Given the description of an element on the screen output the (x, y) to click on. 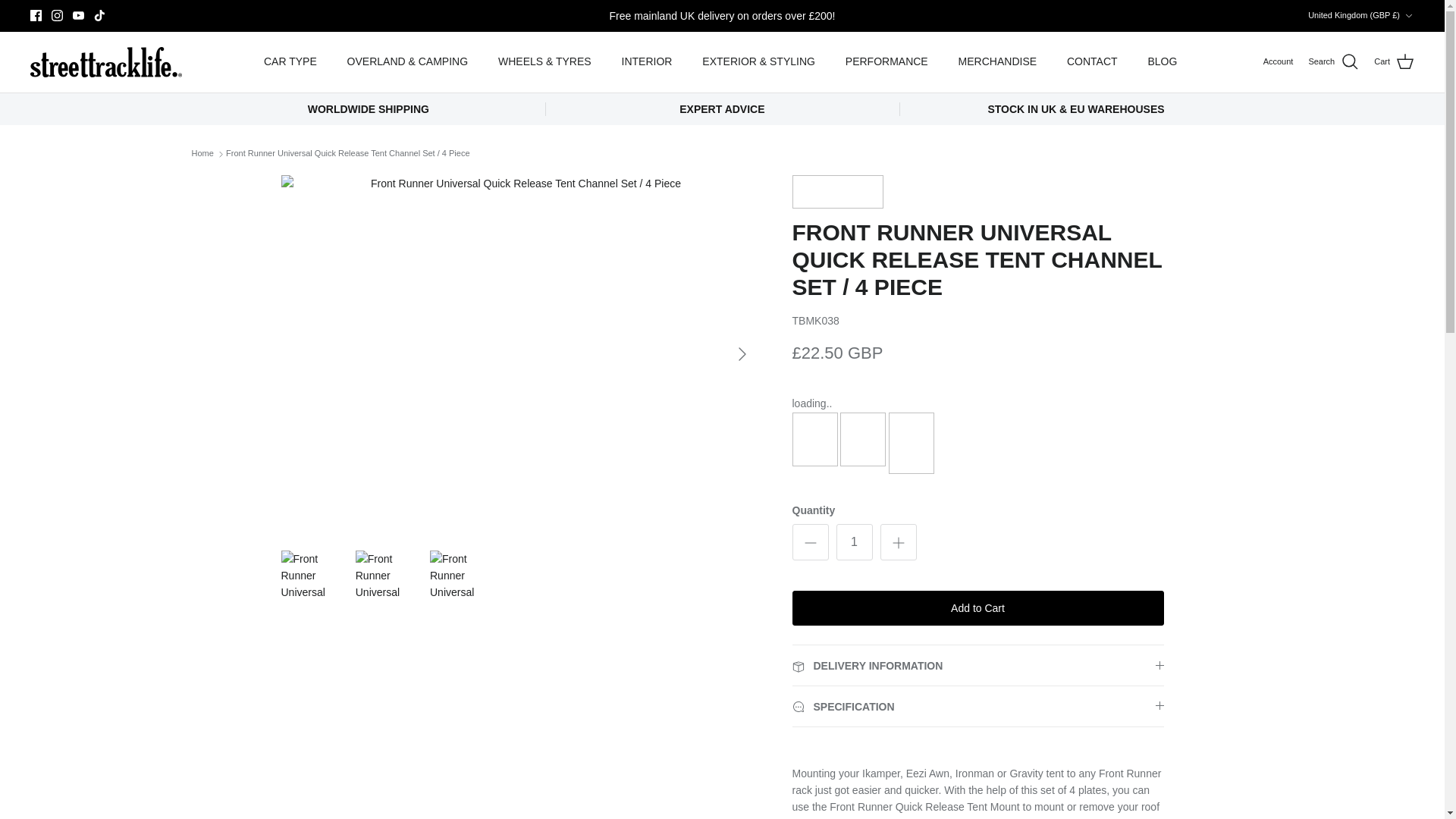
STREET TRACK LIFE (106, 61)
1 (853, 542)
Facebook (36, 15)
Down (1408, 15)
Instagram (56, 15)
Youtube (78, 15)
Instagram (56, 15)
Right (741, 354)
Plus (897, 542)
Facebook (36, 15)
